Given the description of an element on the screen output the (x, y) to click on. 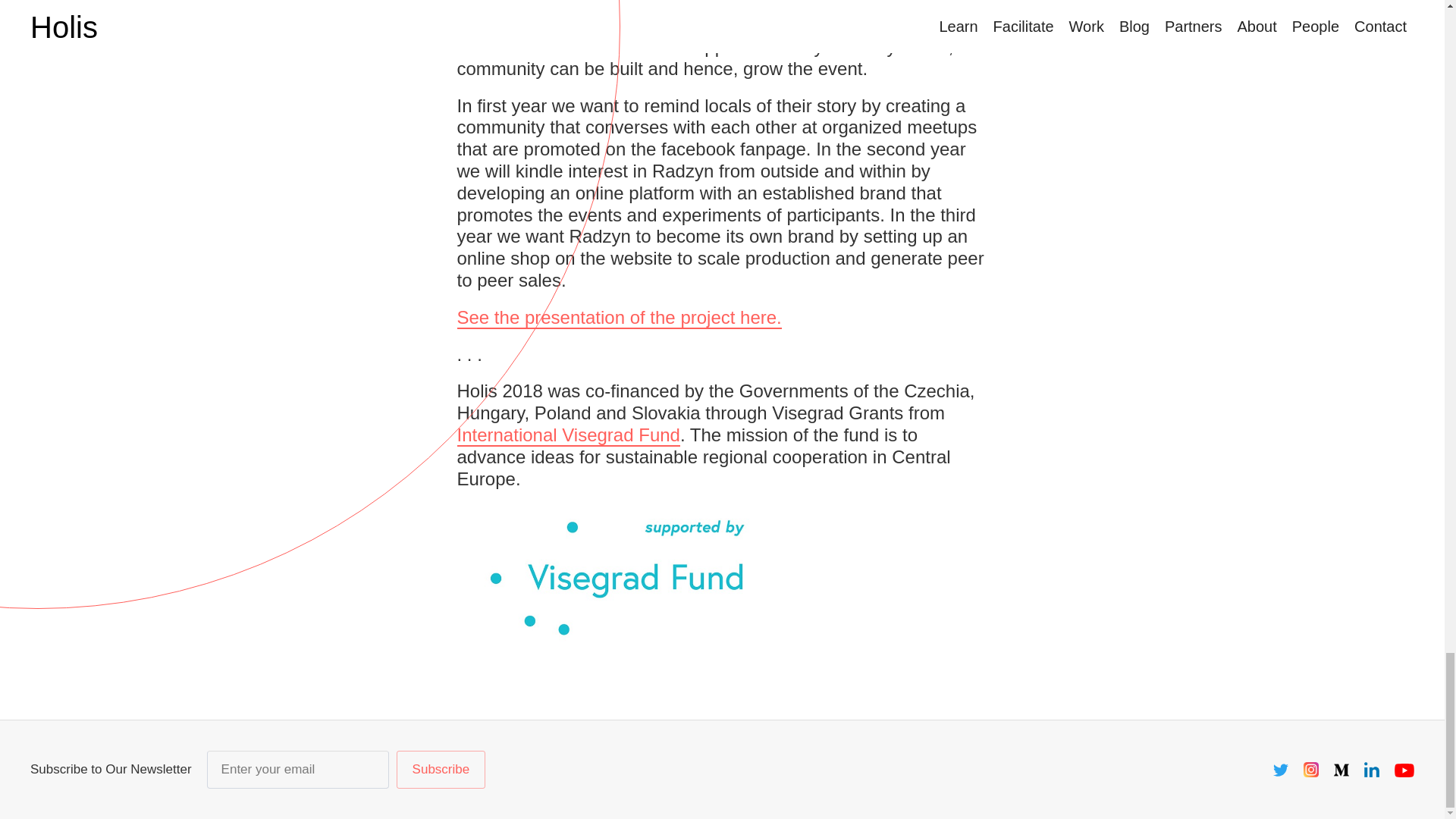
Subscribe (441, 769)
Subscribe (441, 769)
See the presentation of the project here. (618, 318)
International Visegrad Fund (568, 435)
